Given the description of an element on the screen output the (x, y) to click on. 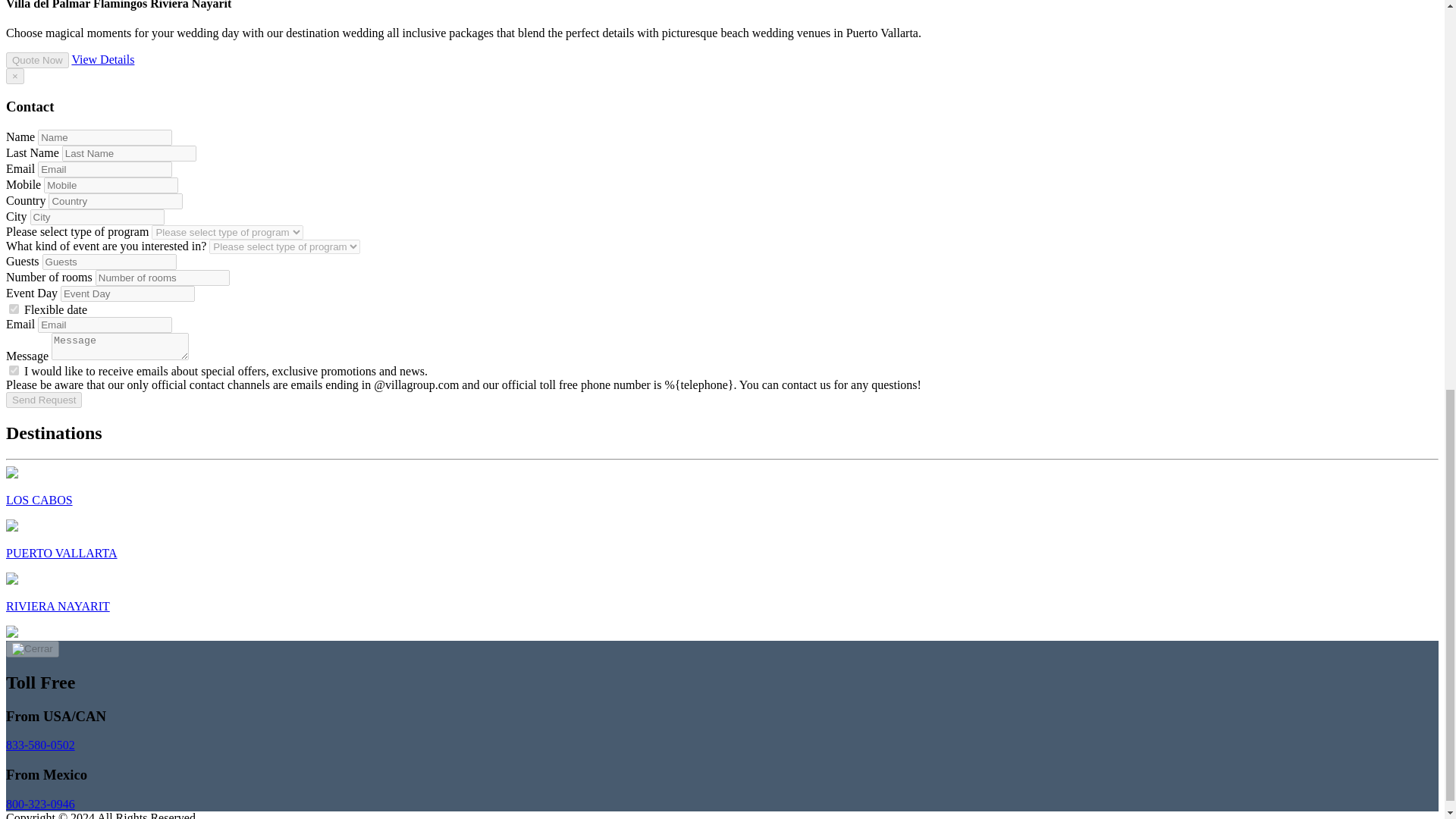
Quote Now (36, 59)
View Details (102, 59)
true (13, 308)
Send Request (43, 399)
800-323-0946 (40, 803)
Send Request (43, 399)
true (13, 370)
833-580-0502 (40, 744)
